Given the description of an element on the screen output the (x, y) to click on. 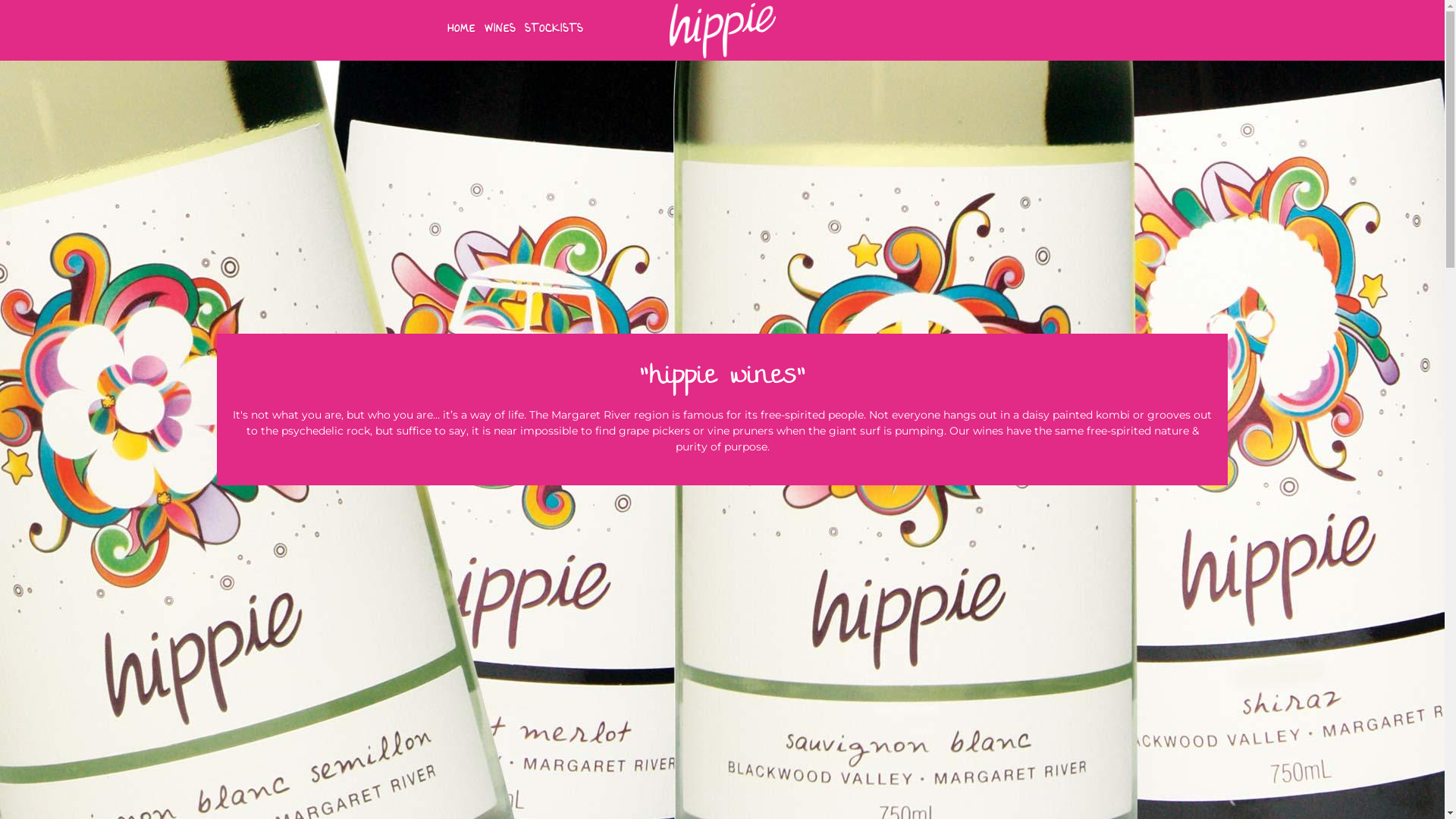
HOME Element type: text (460, 29)
  Element type: text (722, 7)
STOCKISTS Element type: text (553, 29)
WINES Element type: text (499, 29)
